Given the description of an element on the screen output the (x, y) to click on. 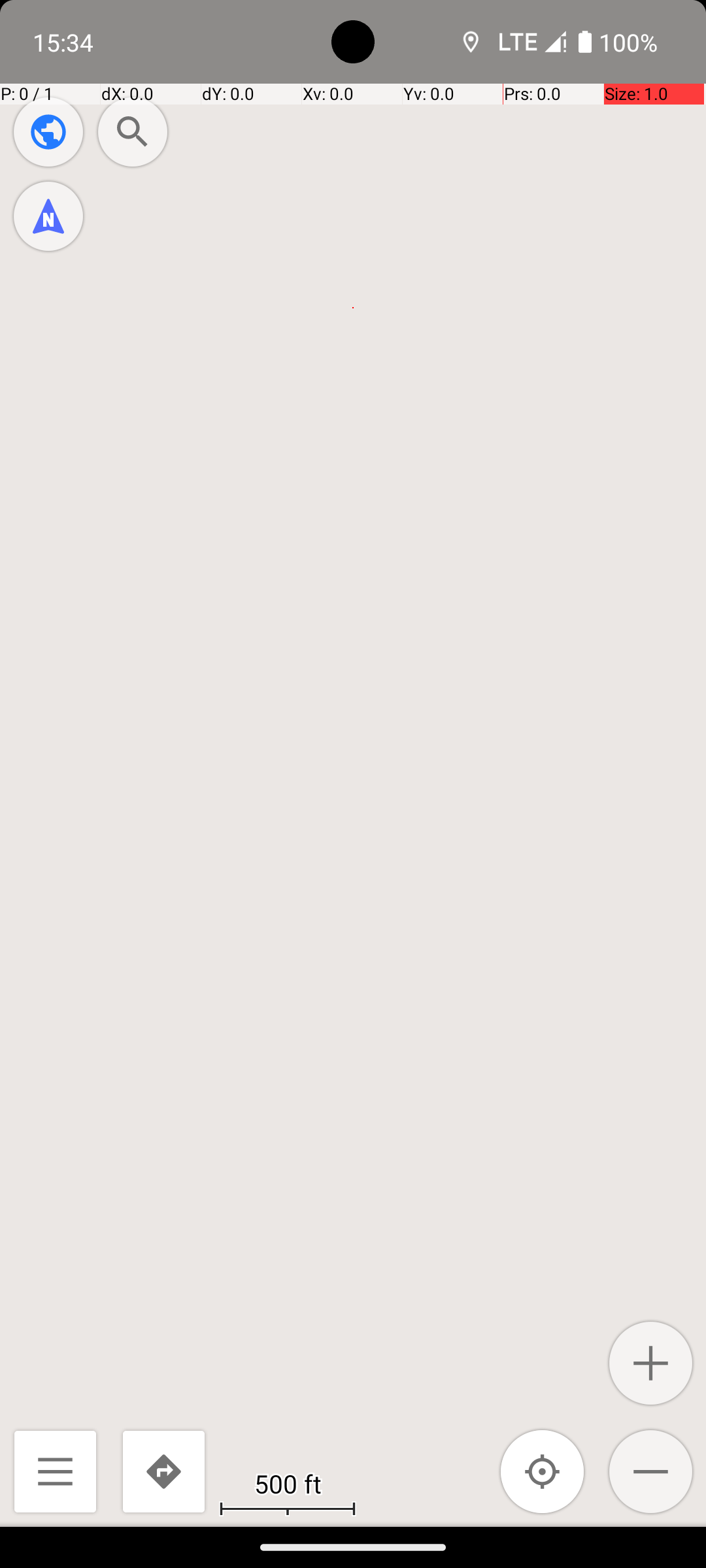
Movement direction Element type: android.widget.ImageButton (48, 216)
500 ft Element type: android.widget.TextView (287, 1483)
